Given the description of an element on the screen output the (x, y) to click on. 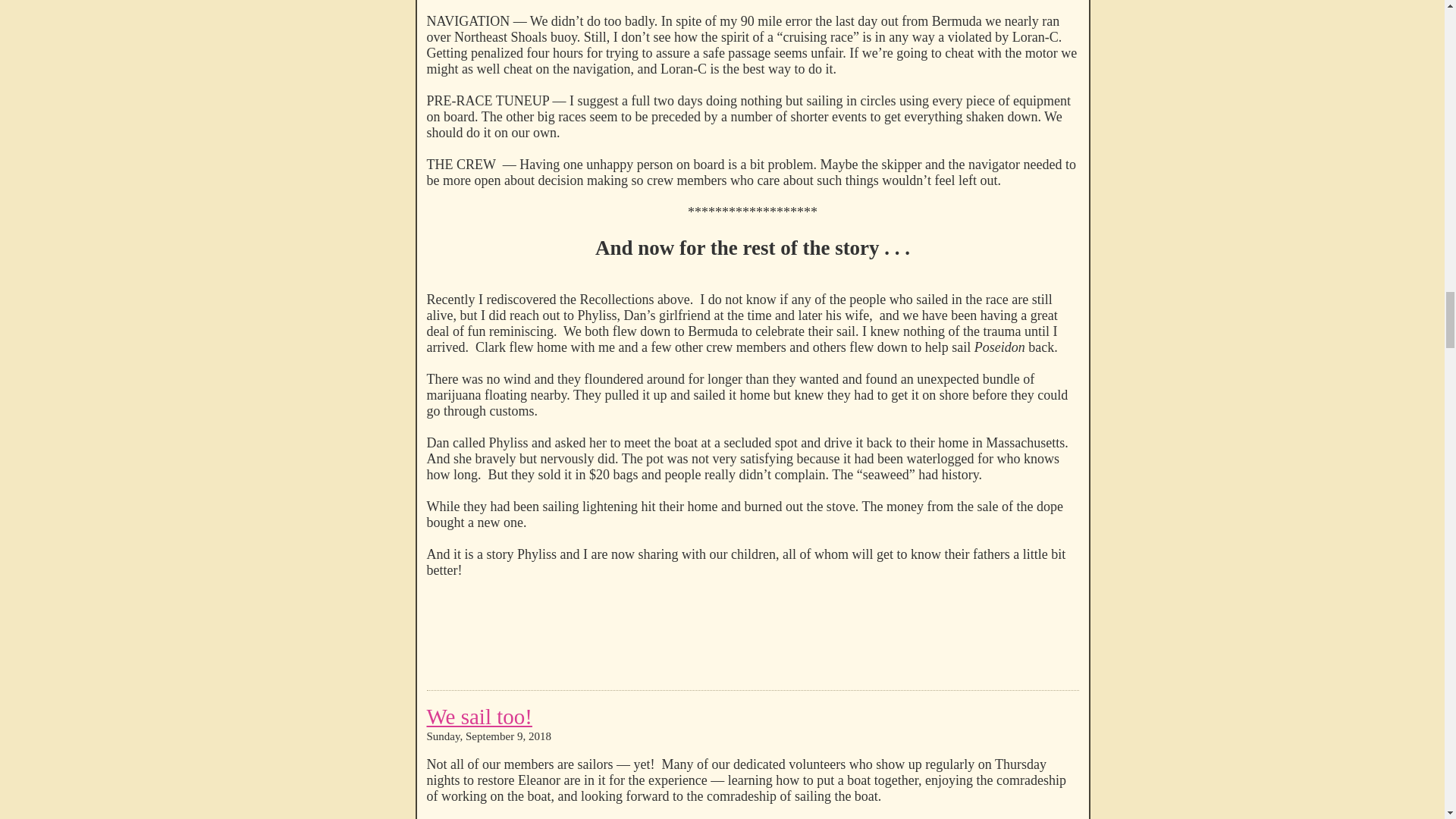
We sail too! (478, 716)
